Given the description of an element on the screen output the (x, y) to click on. 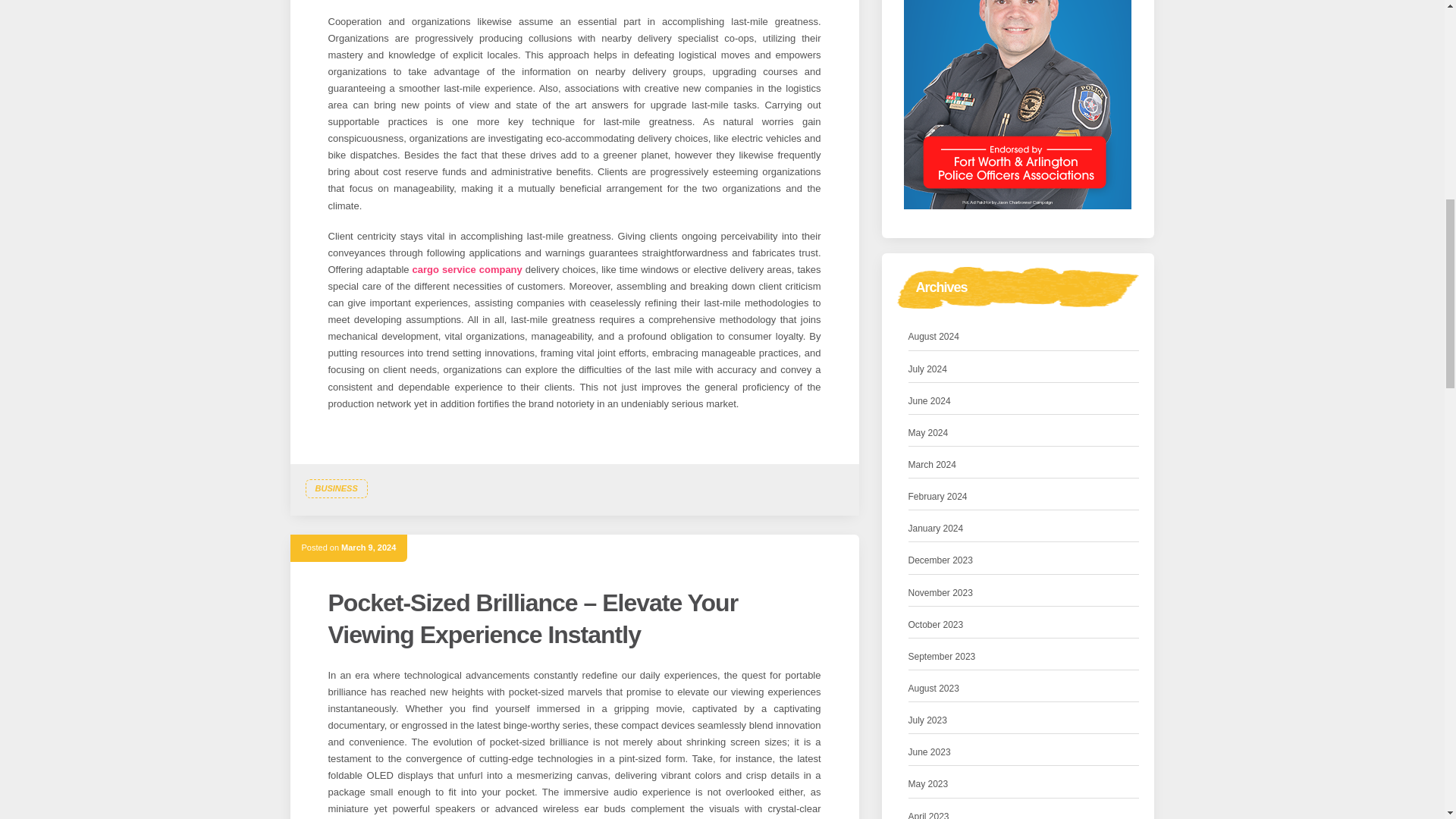
cargo service company (467, 269)
October 2023 (935, 625)
March 2024 (932, 465)
December 2023 (940, 560)
May 2024 (928, 433)
January 2024 (935, 528)
BUSINESS (335, 488)
September 2023 (941, 657)
February 2024 (938, 496)
August 2024 (933, 336)
